Given the description of an element on the screen output the (x, y) to click on. 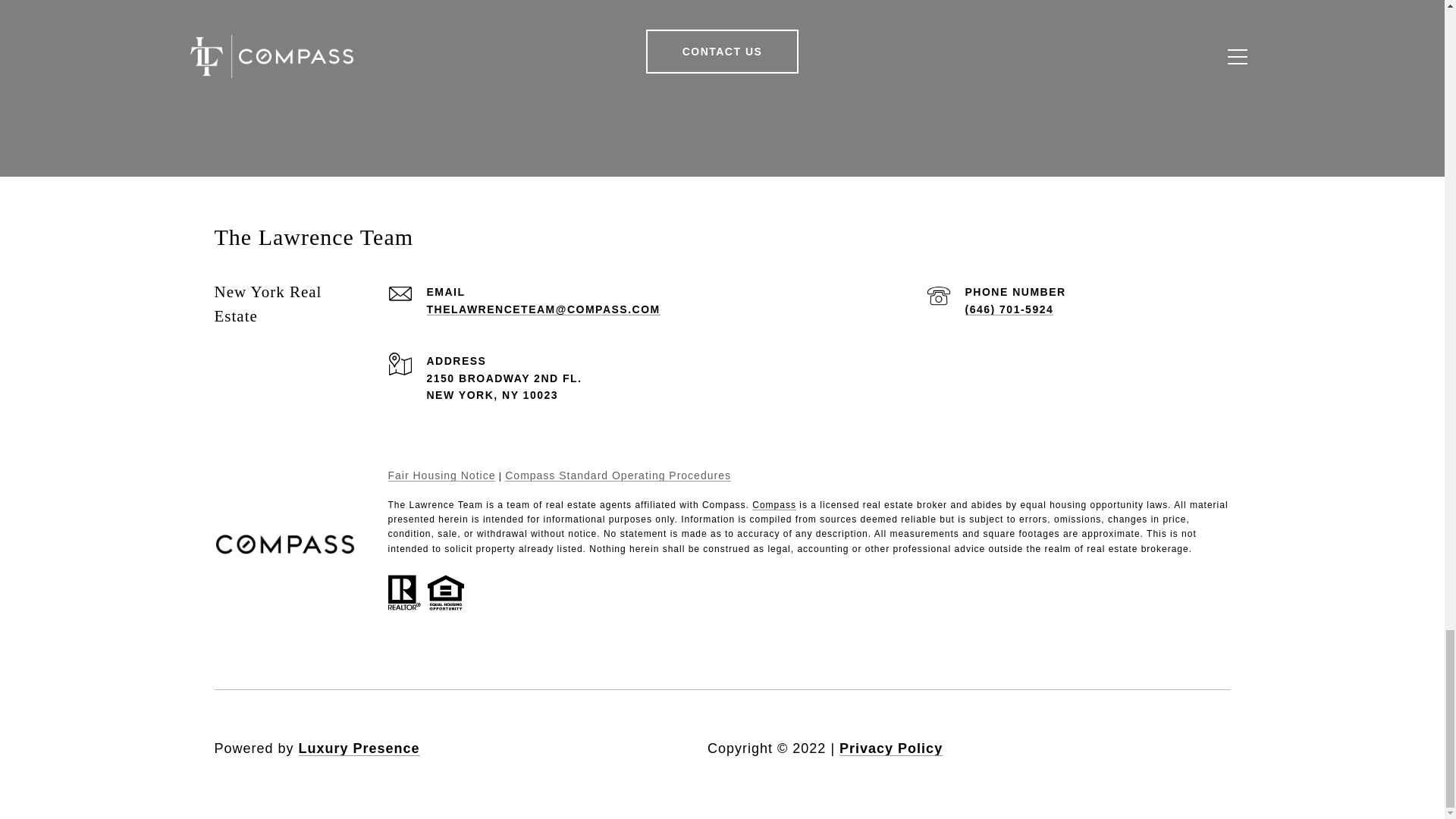
CONTACT US (722, 51)
Compass Standard Operating Procedures (617, 475)
Compass (774, 504)
Fair Housing Notice (442, 475)
